Given the description of an element on the screen output the (x, y) to click on. 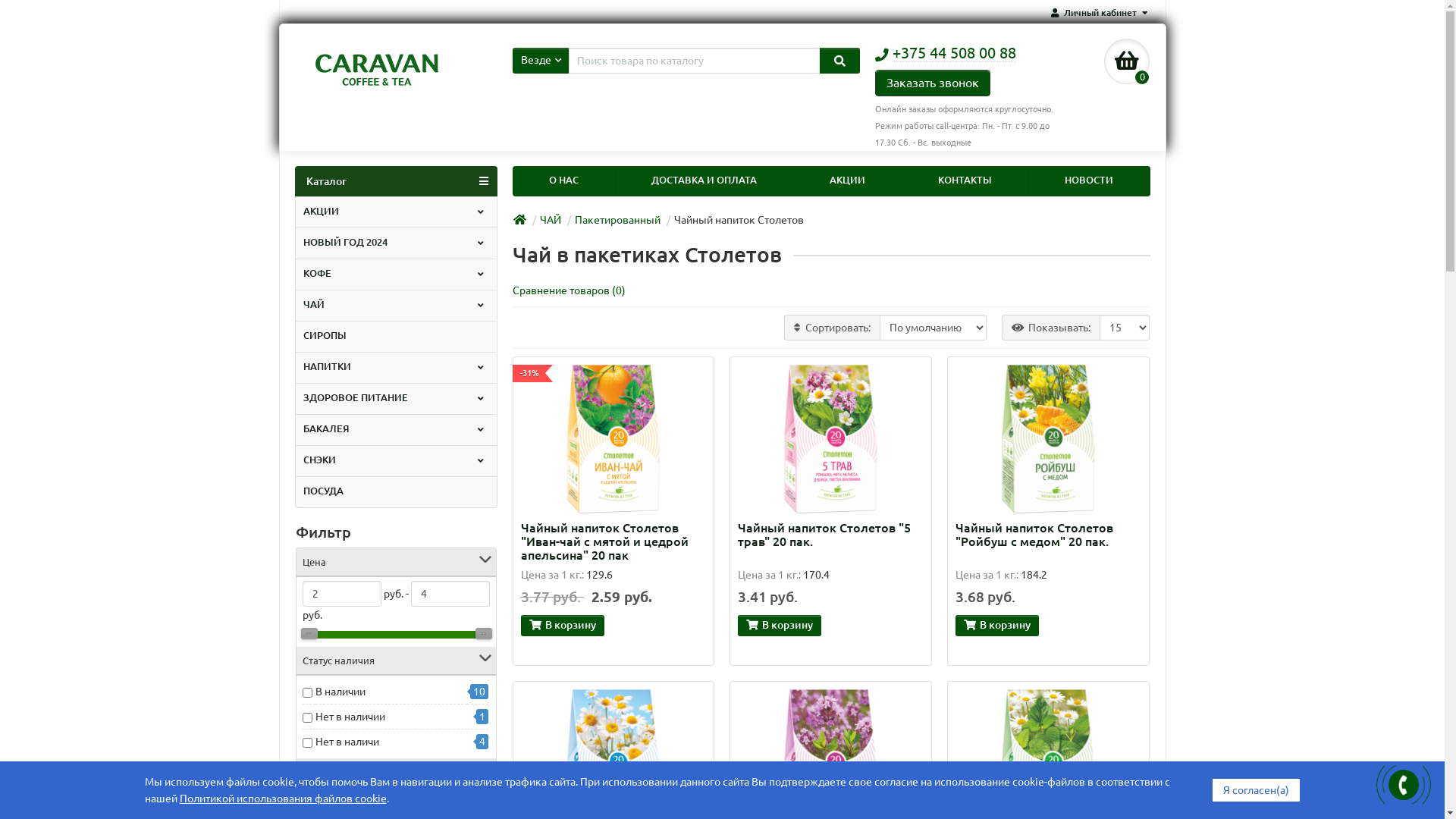
0 Element type: text (1126, 61)
+375 44 508 00 88 Element type: text (954, 52)
